Given the description of an element on the screen output the (x, y) to click on. 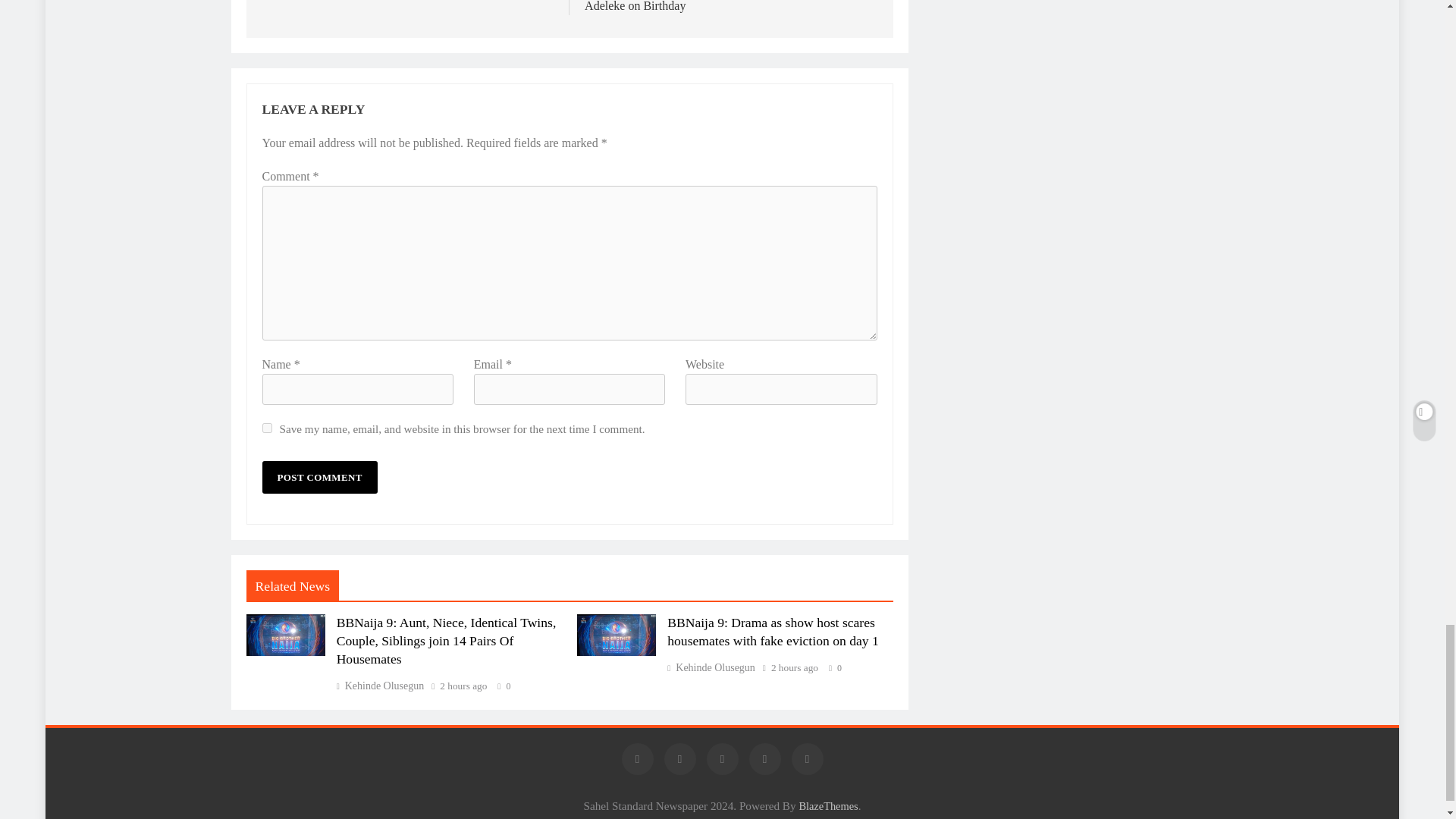
yes (267, 428)
Post Comment (319, 477)
